Given the description of an element on the screen output the (x, y) to click on. 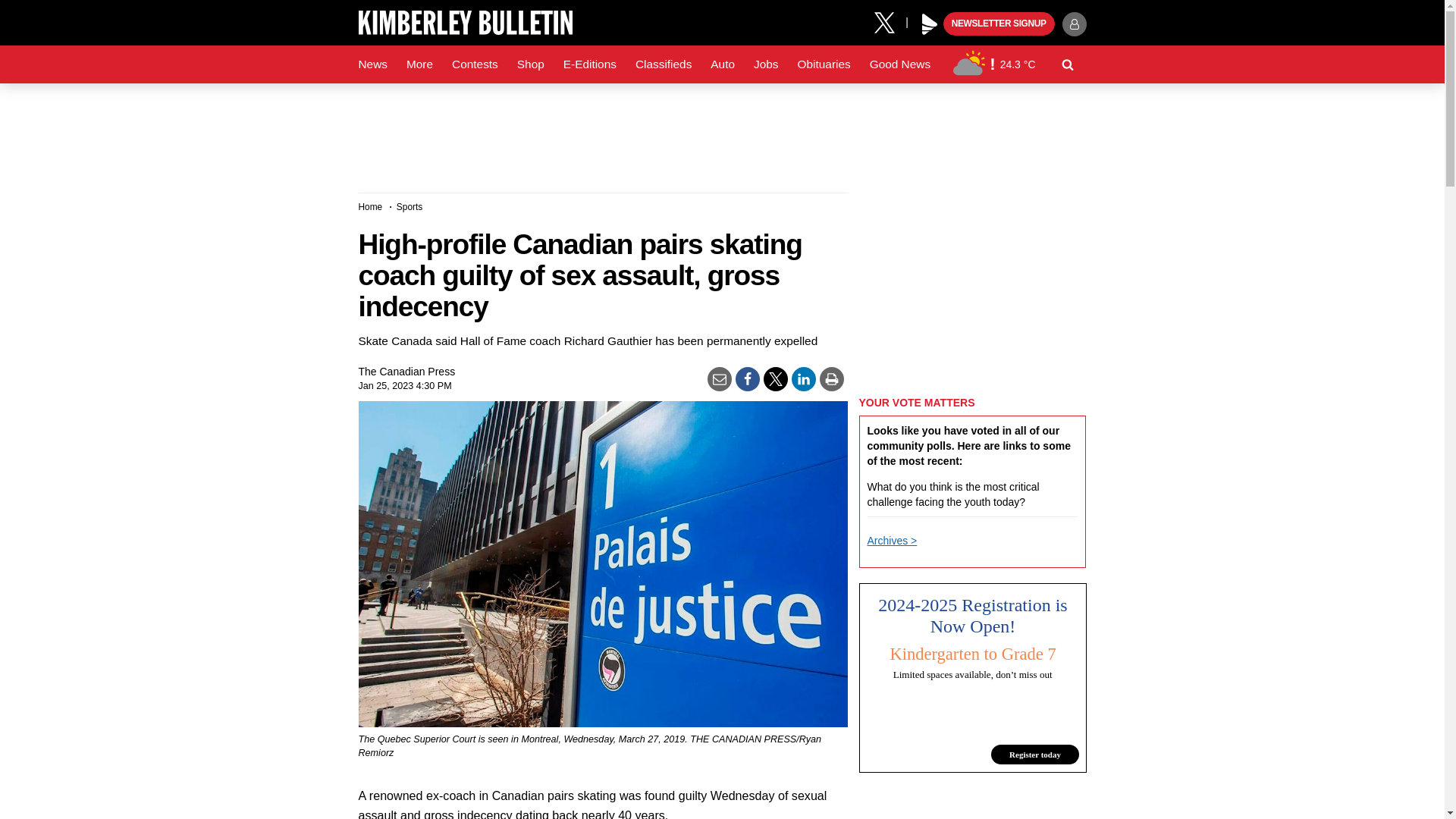
Black Press Media (929, 24)
News (372, 64)
3rd party ad content (721, 131)
Play (929, 24)
NEWSLETTER SIGNUP (998, 24)
X (889, 21)
